Given the description of an element on the screen output the (x, y) to click on. 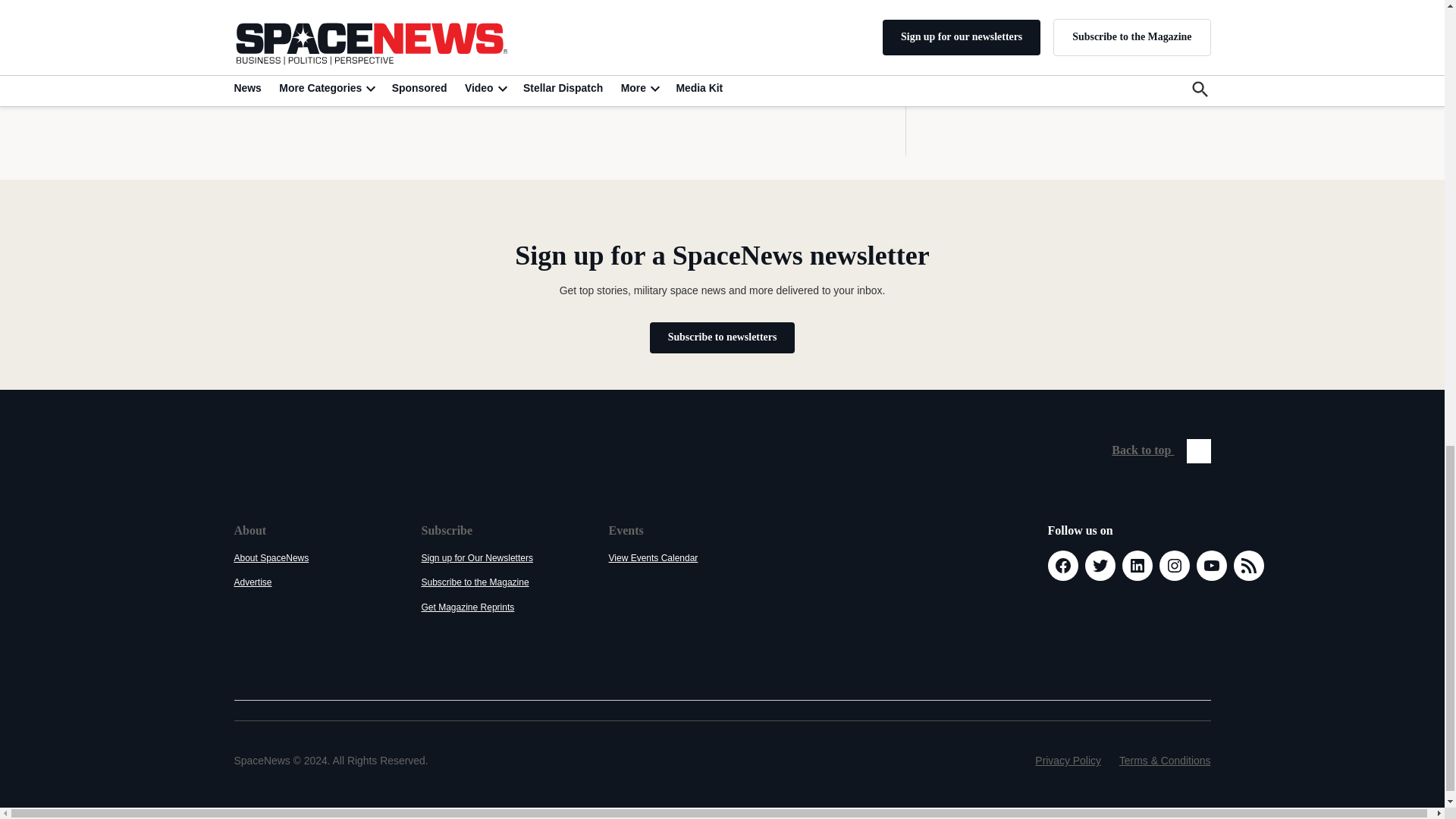
Click to email a link to a friend (386, 71)
Click to share on Reddit (352, 71)
Click to share on Facebook (286, 71)
Click to share on LinkedIn (319, 71)
Click to share on X (253, 71)
